Given the description of an element on the screen output the (x, y) to click on. 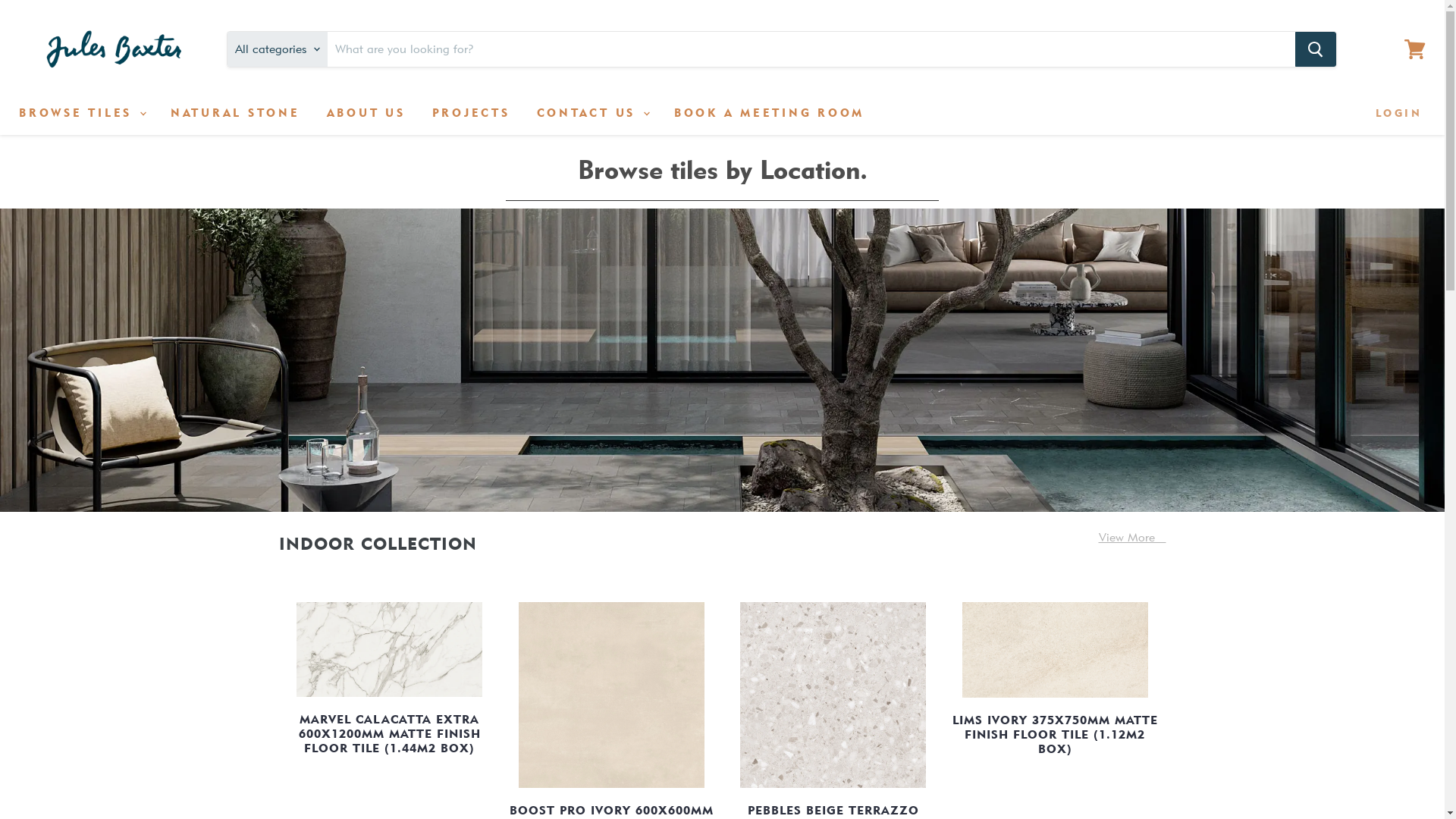
View cart Element type: text (1414, 48)
CONTACT US Element type: text (591, 112)
BOOK A MEETING ROOM Element type: text (768, 112)
ABOUT US Element type: text (366, 112)
PROJECTS Element type: text (470, 112)
NATURAL STONE Element type: text (235, 112)
LIMS IVORY 375X750MM MATTE FINISH FLOOR TILE (1.12M2 BOX) Element type: text (1054, 734)
BROWSE TILES Element type: text (81, 112)
LOGIN Element type: text (1398, 112)
